Given the description of an element on the screen output the (x, y) to click on. 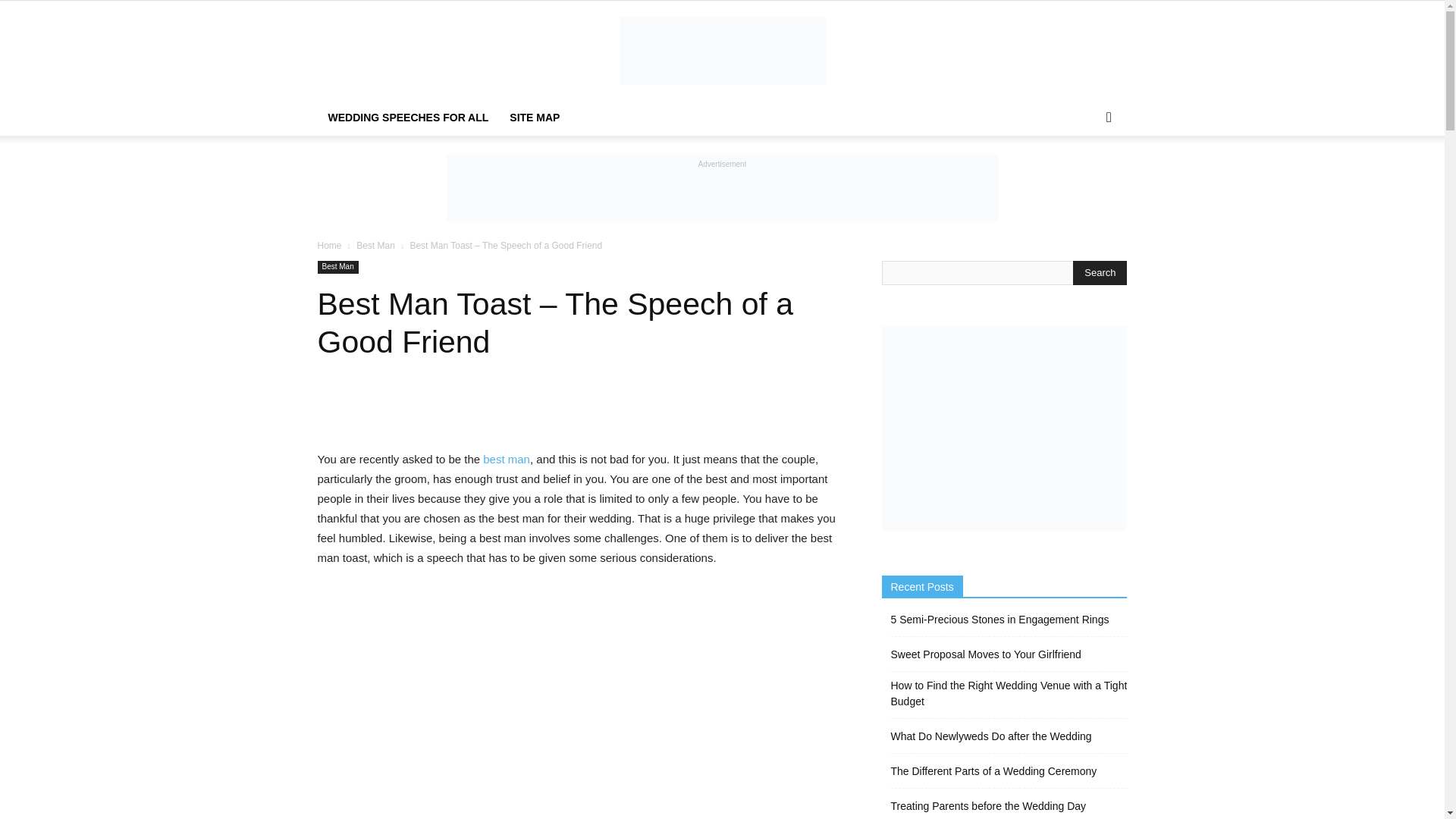
View all posts in Best Man (375, 245)
best man (506, 459)
Home (328, 245)
Wedding Tips for All (721, 50)
Search (1099, 273)
WEDDING SPEECHES FOR ALL (408, 117)
Best Man (375, 245)
Best Man (337, 267)
SITE MAP (534, 117)
Search (1085, 178)
